Given the description of an element on the screen output the (x, y) to click on. 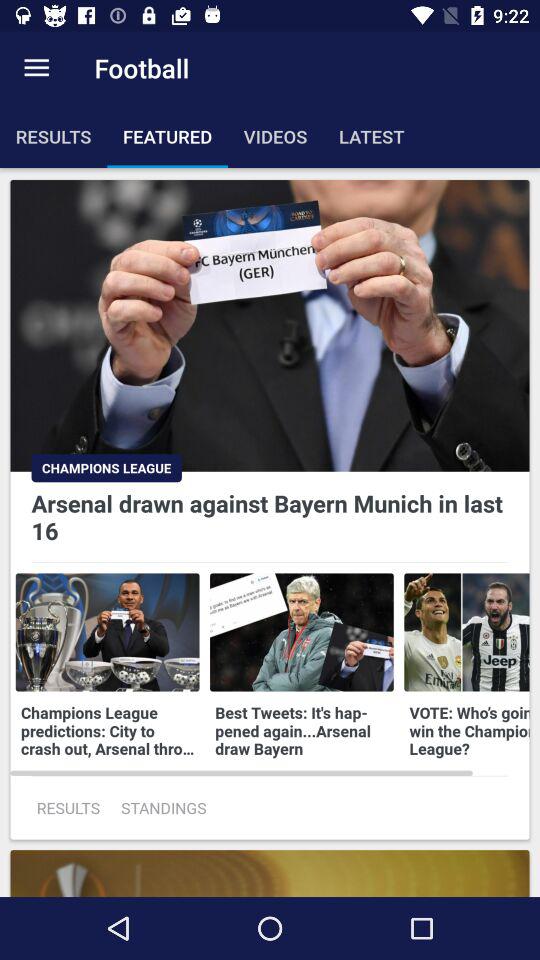
press the icon to the left of football (36, 68)
